Given the description of an element on the screen output the (x, y) to click on. 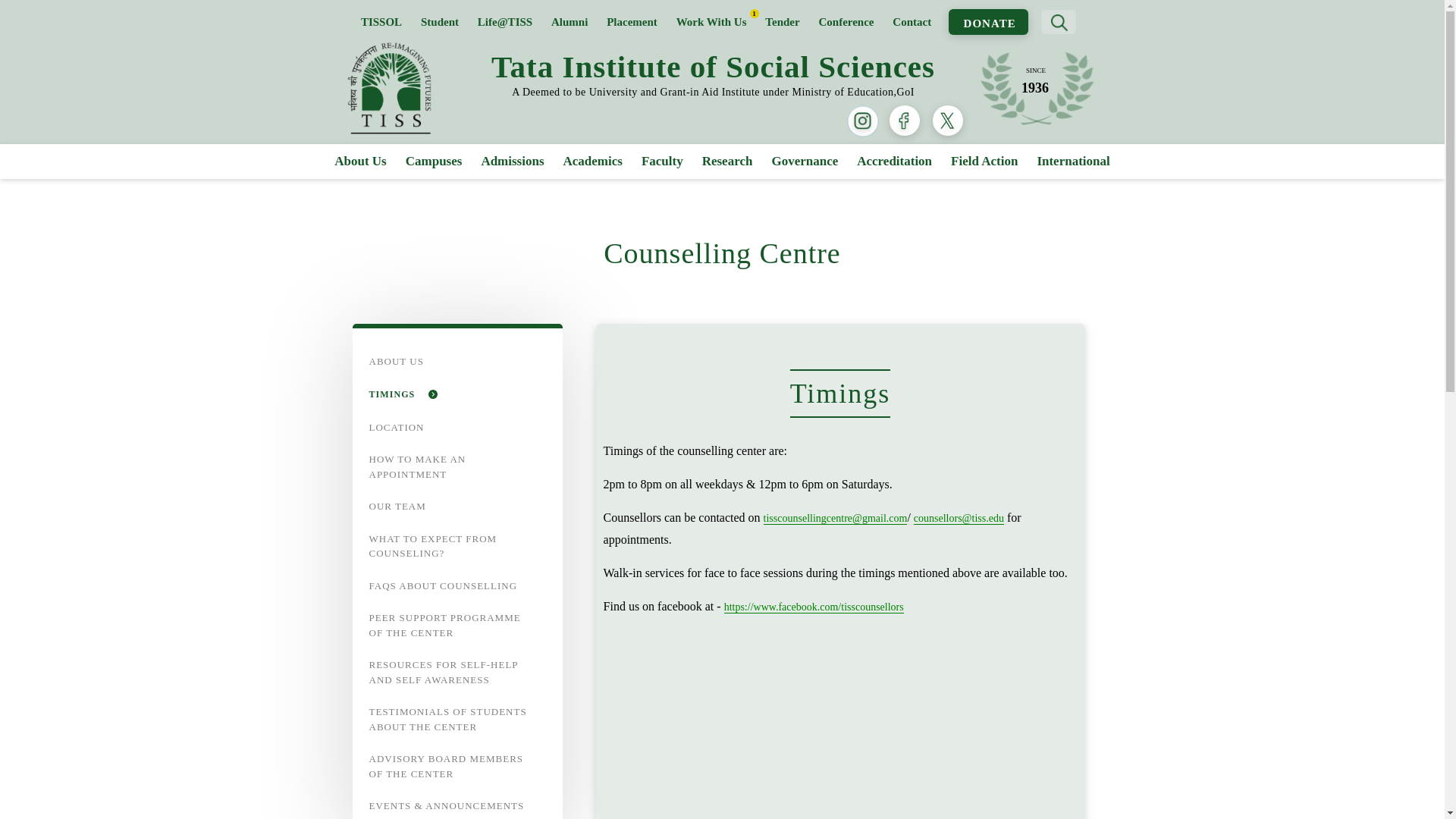
tisscounsellors (813, 607)
